Given the description of an element on the screen output the (x, y) to click on. 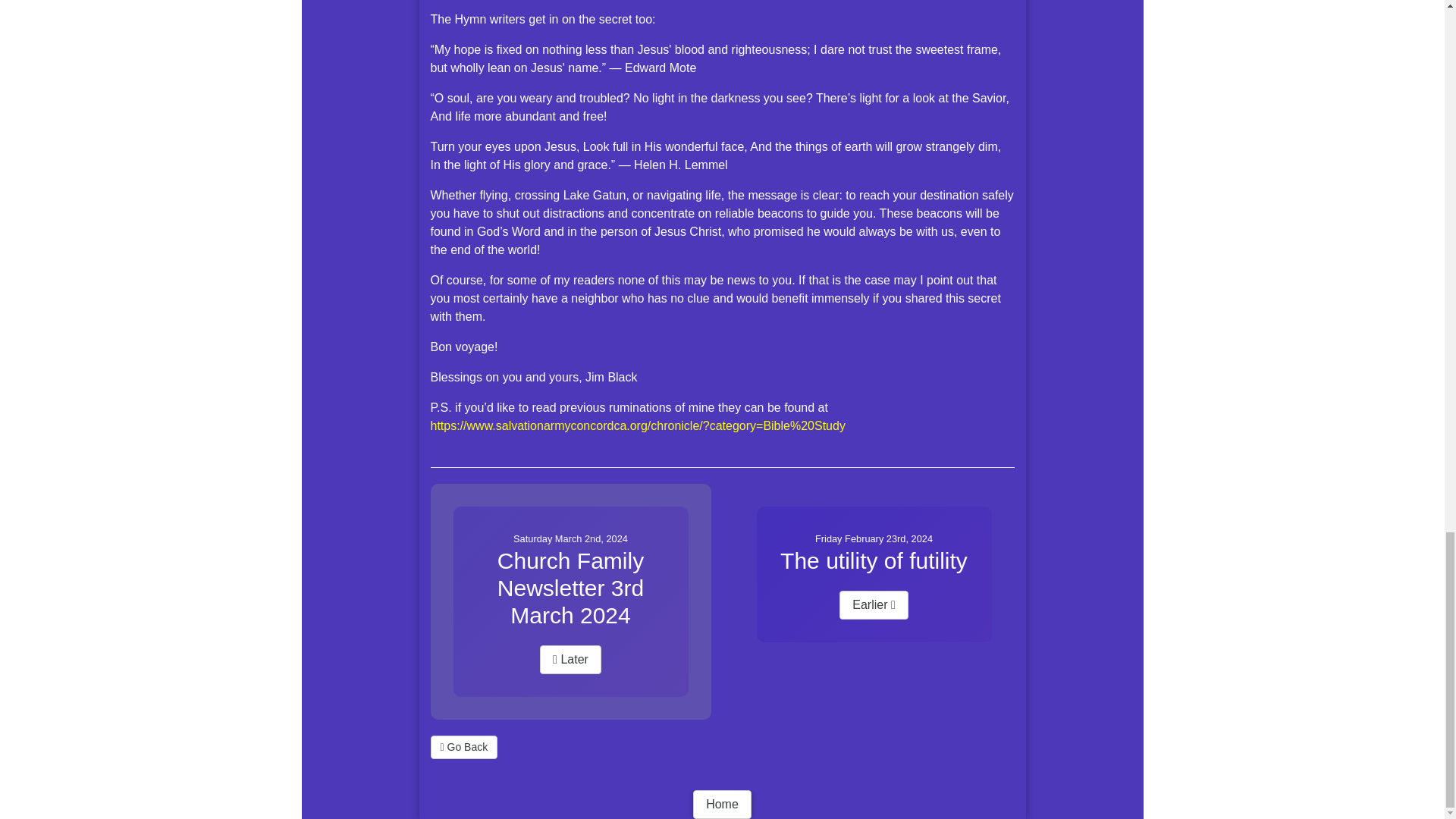
The utility of futility (873, 560)
Later (570, 659)
Earlier (874, 604)
Church Family Newsletter 3rd March 2024 (570, 588)
Go Back (463, 747)
